Given the description of an element on the screen output the (x, y) to click on. 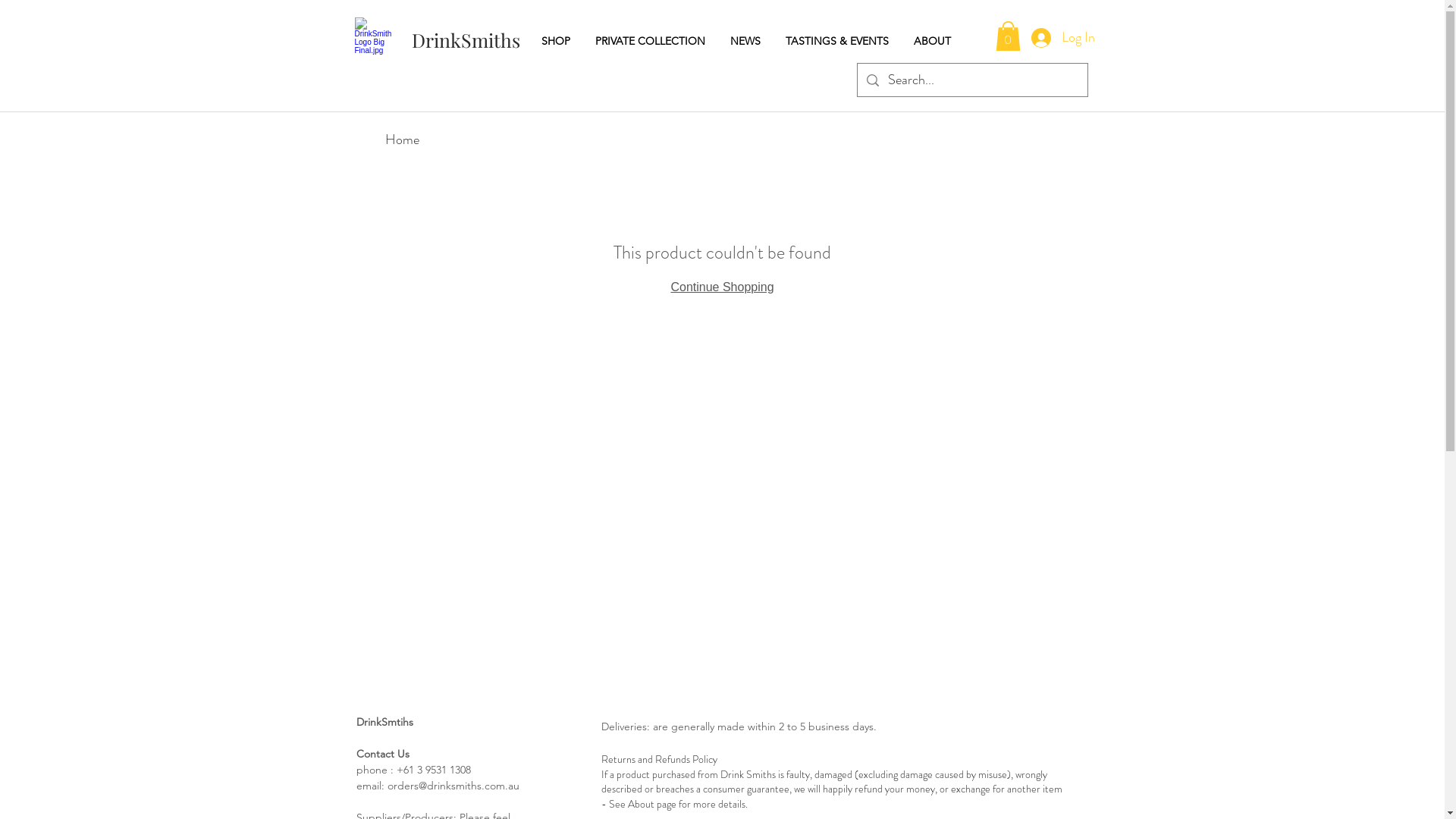
0 Element type: text (1006, 35)
PRIVATE COLLECTION Element type: text (653, 40)
NEWS Element type: text (749, 40)
Log In Element type: text (1057, 37)
orders@drinksmiths.com.au Element type: text (452, 785)
SHOP Element type: text (560, 40)
ABOUT Element type: text (935, 40)
Home Element type: text (402, 139)
TASTINGS & EVENTS Element type: text (842, 40)
DrinkSmiths Element type: text (465, 39)
Continue Shopping Element type: text (721, 286)
